Given the description of an element on the screen output the (x, y) to click on. 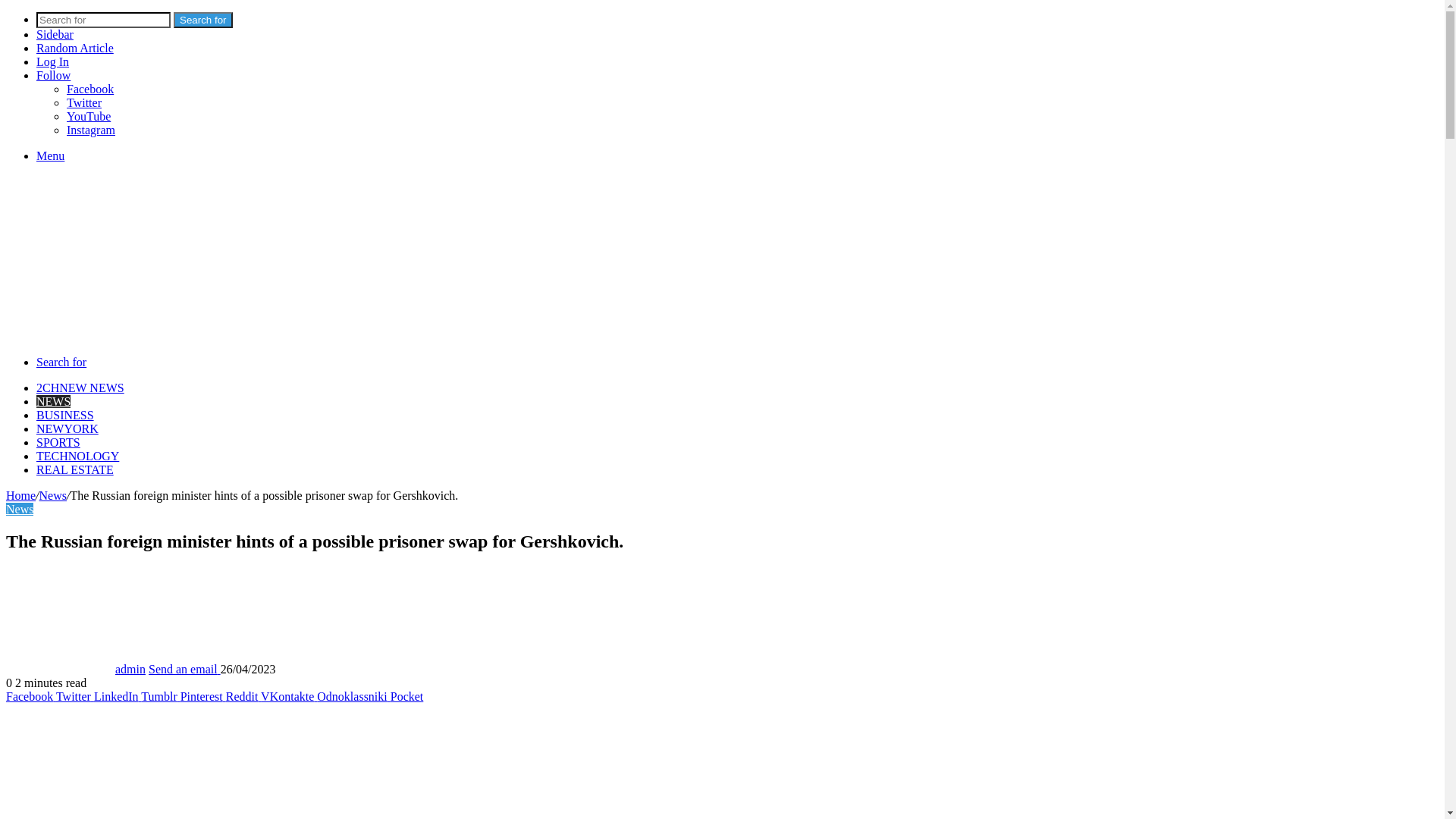
Home Element type: text (20, 495)
Send an email Element type: text (184, 668)
Search for Element type: text (202, 20)
LinkedIn Element type: text (117, 696)
Sidebar Element type: text (54, 34)
REAL ESTATE Element type: text (74, 469)
Log In Element type: text (52, 61)
Twitter Element type: text (75, 696)
YouTube Element type: text (88, 115)
NEWYORK Element type: text (67, 428)
admin Element type: text (130, 668)
Twitter Element type: text (83, 102)
Pocket Element type: text (406, 696)
NEWS Element type: text (53, 401)
Follow Element type: text (53, 75)
Search for Element type: text (61, 361)
Reddit Element type: text (242, 696)
News Element type: text (52, 495)
Tumblr Element type: text (160, 696)
Pinterest Element type: text (202, 696)
2CHNEW NEWS Element type: text (80, 387)
Odnoklassniki Element type: text (352, 696)
BUSINESS Element type: text (65, 414)
Facebook Element type: text (89, 88)
VKontakte Element type: text (288, 696)
Search for Element type: hover (103, 20)
2Chnew News Element type: hover (233, 310)
TECHNOLOGY Element type: text (77, 455)
News Element type: text (19, 508)
Menu Element type: text (50, 155)
Random Article Element type: text (74, 47)
Facebook Element type: text (31, 696)
SPORTS Element type: text (58, 442)
Instagram Element type: text (90, 129)
